Given the description of an element on the screen output the (x, y) to click on. 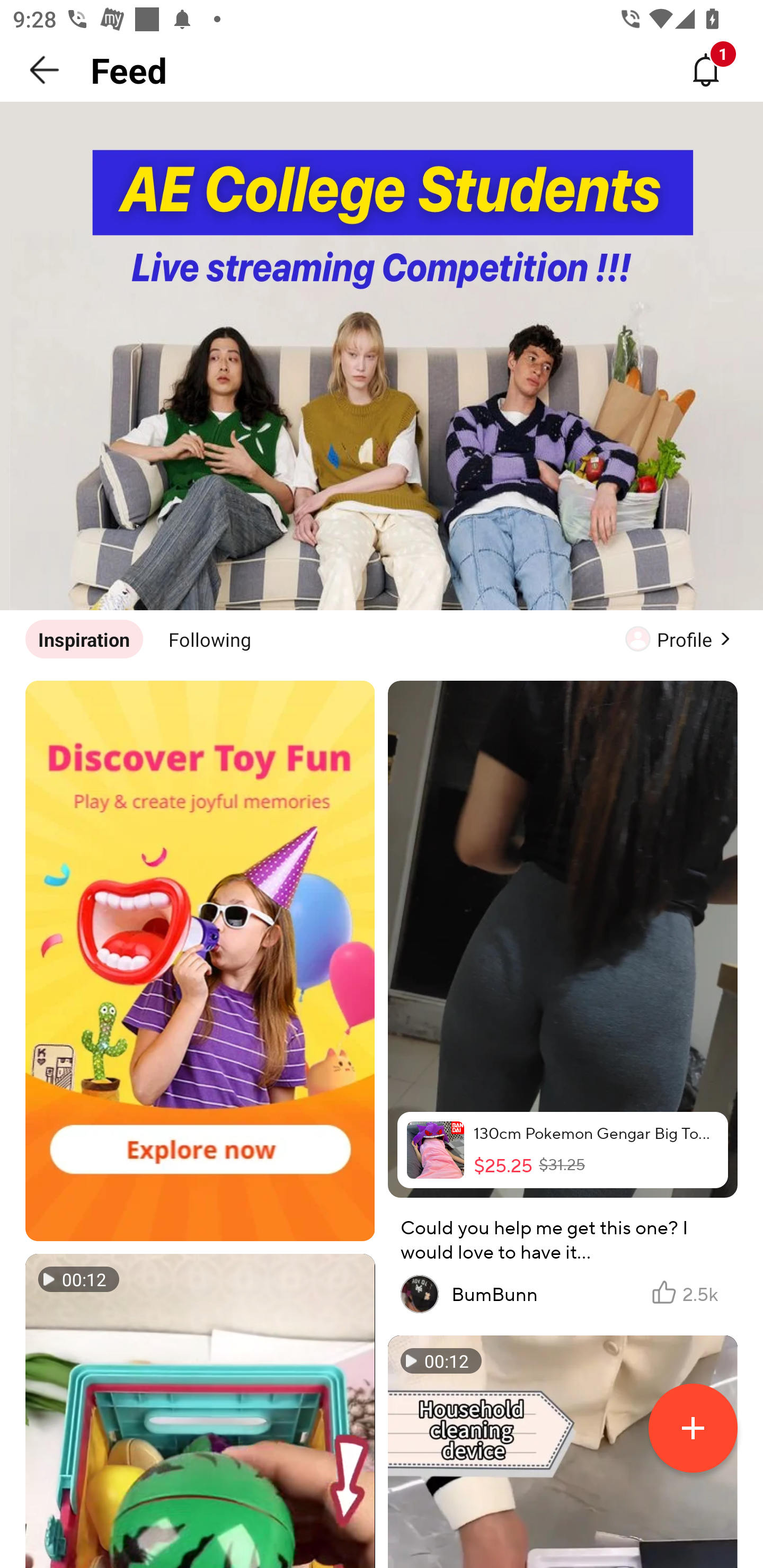
Messages 1 (705, 69)
Inspiration (84, 638)
Following (209, 638)
Profile  (680, 638)
00:12 (200, 1411)
